Given the description of an element on the screen output the (x, y) to click on. 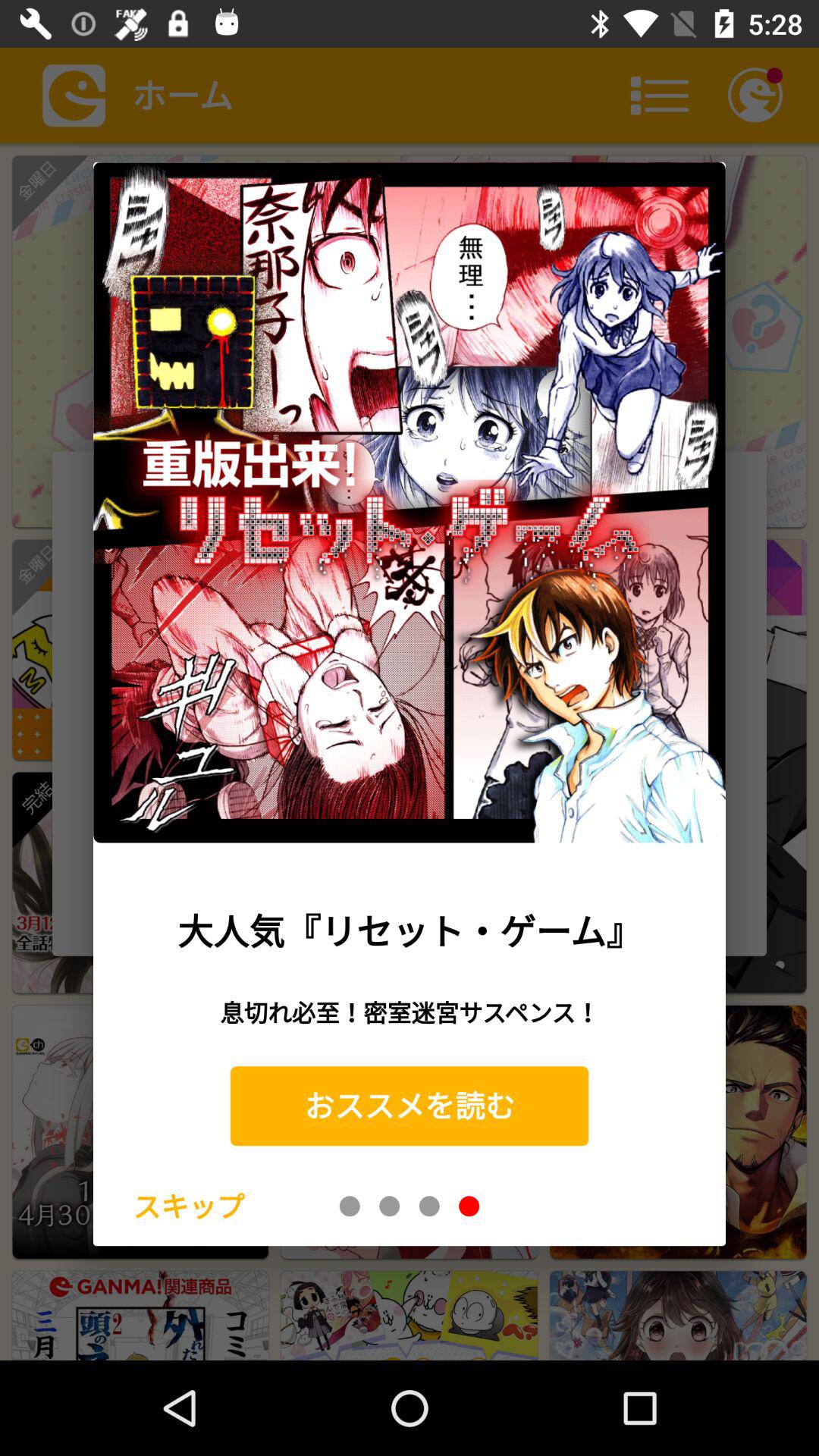
window two (389, 1206)
